Given the description of an element on the screen output the (x, y) to click on. 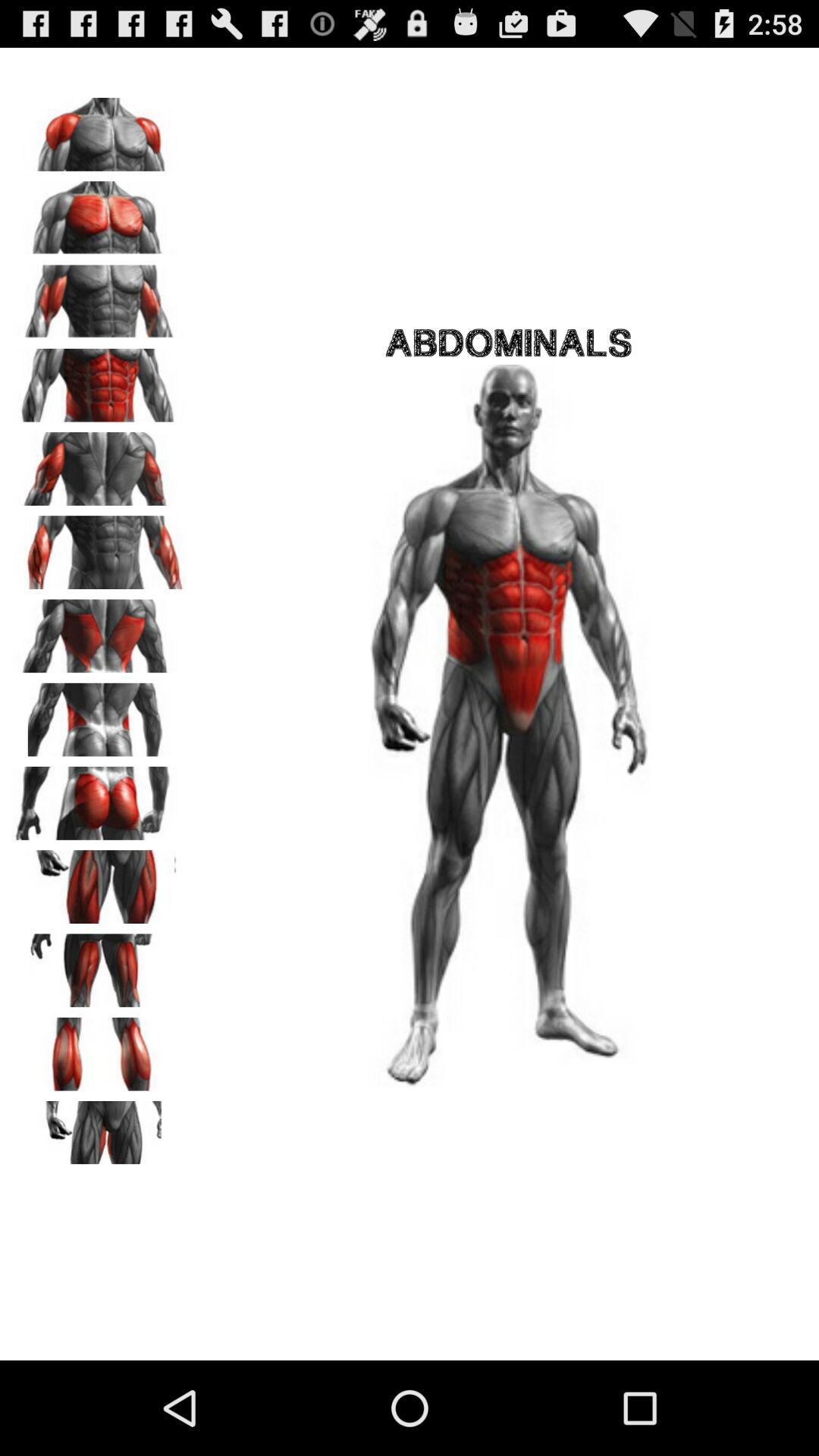
switch image option (99, 296)
